Given the description of an element on the screen output the (x, y) to click on. 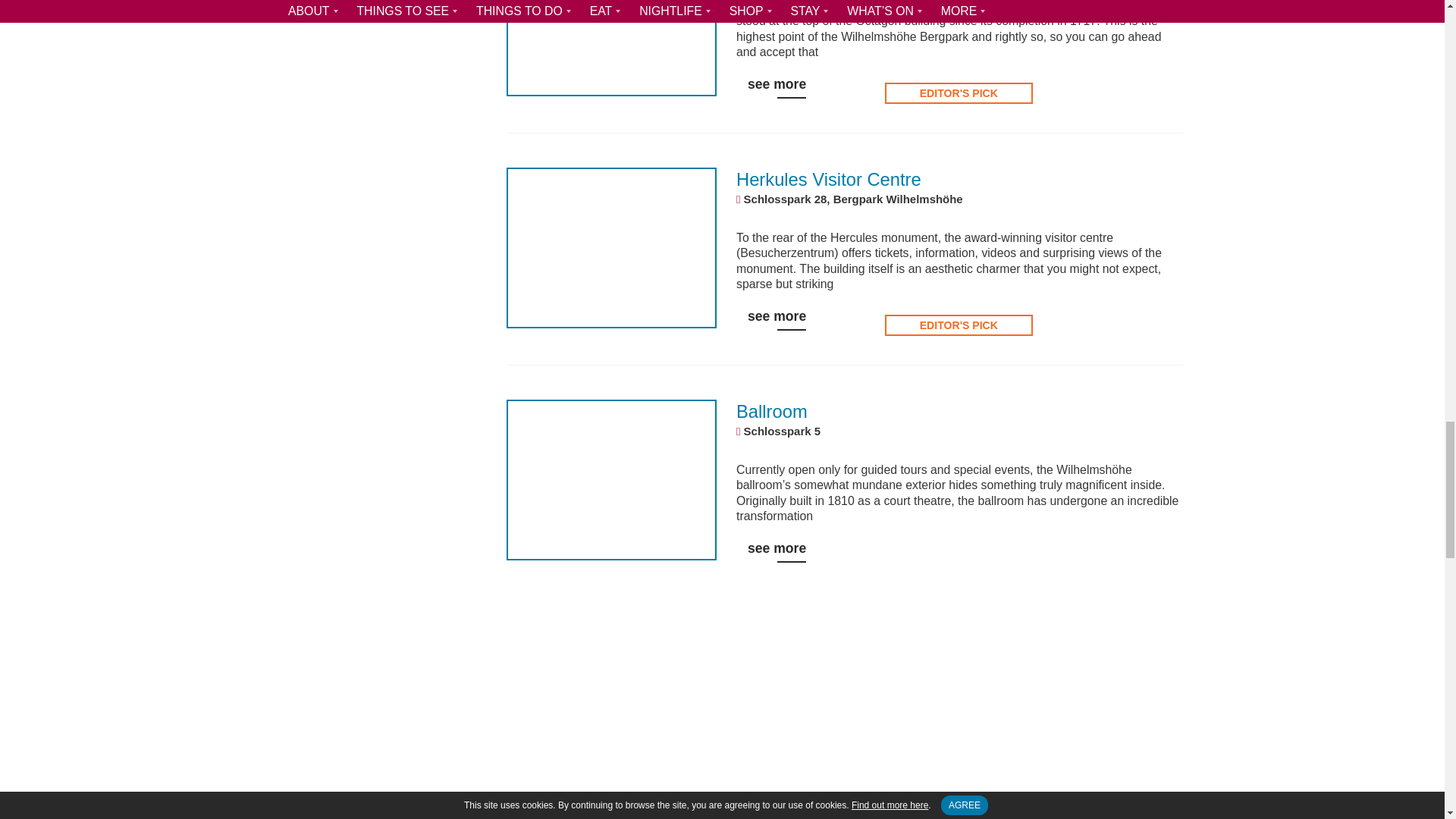
Advertisement (844, 730)
